Given the description of an element on the screen output the (x, y) to click on. 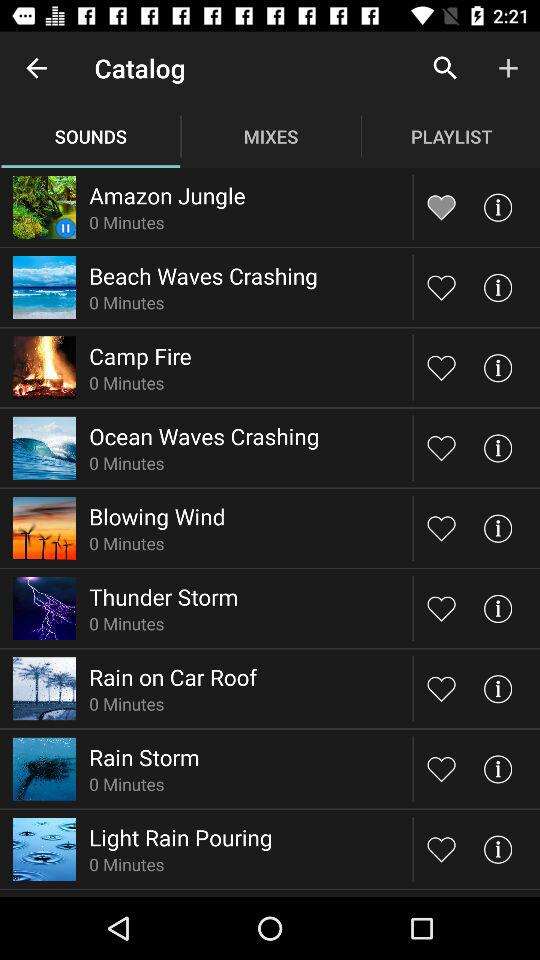
check info (498, 608)
